Given the description of an element on the screen output the (x, y) to click on. 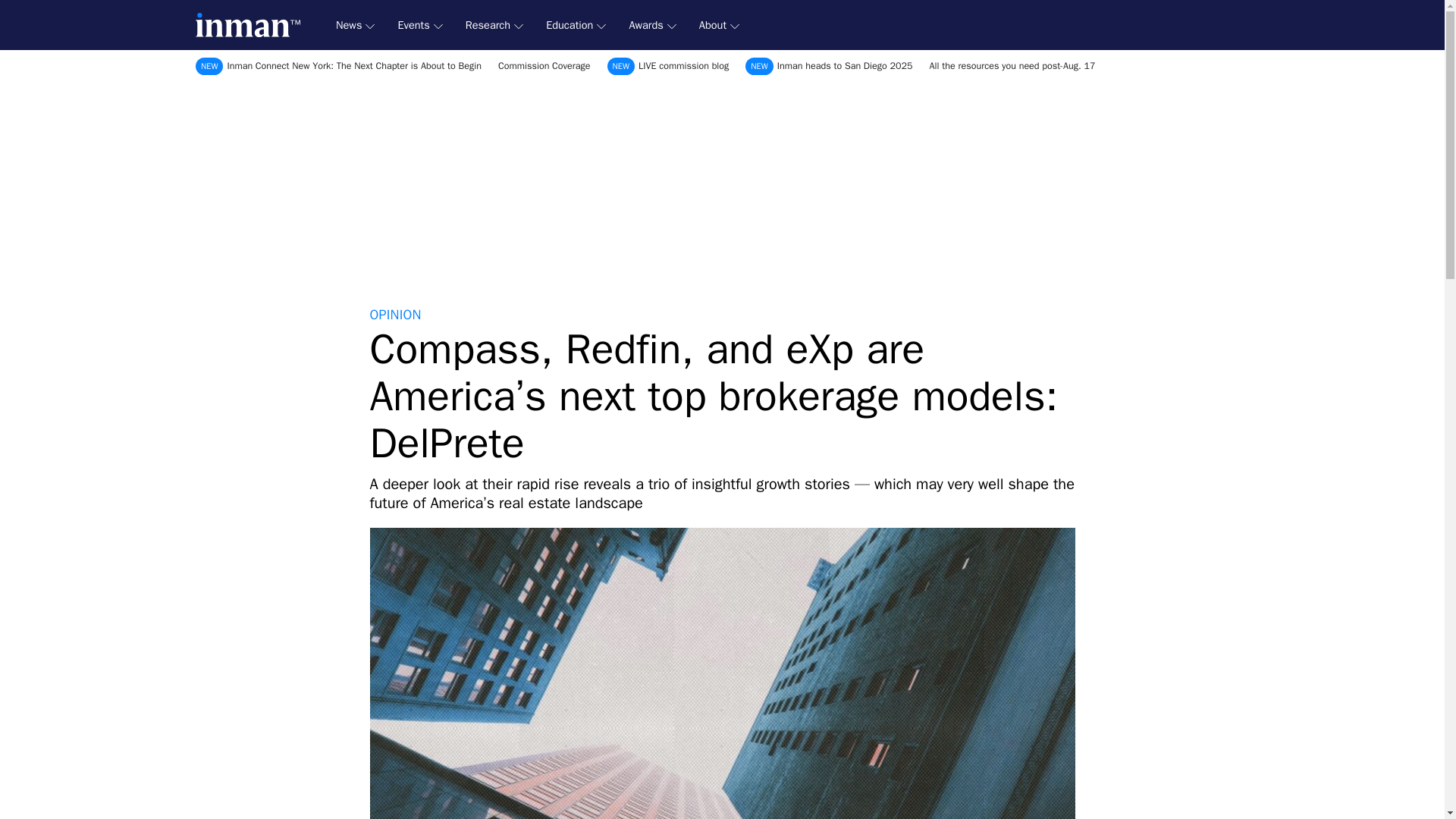
Research (493, 25)
Events (419, 25)
News (355, 25)
Education (575, 25)
Awards (651, 25)
